Given the description of an element on the screen output the (x, y) to click on. 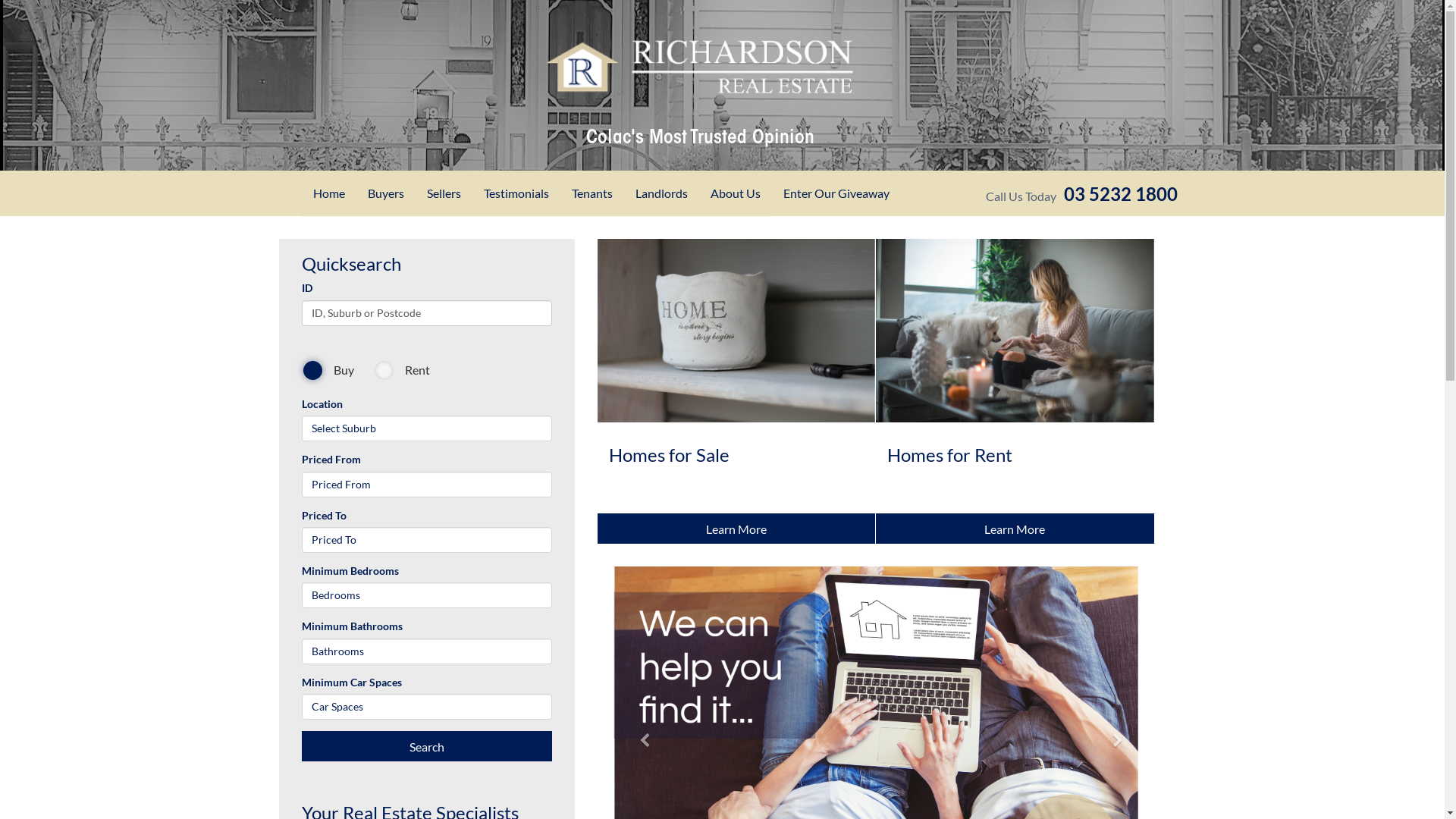
Landlords Element type: text (660, 193)
Search Element type: text (426, 746)
Homes for Rent
Learn More Element type: text (1014, 390)
Previous Element type: text (638, 659)
Sellers Element type: text (443, 193)
03 5232 1800 Element type: text (1119, 193)
Learn More Element type: text (736, 528)
Next Element type: text (1112, 659)
Home Element type: text (328, 193)
Homes for Sale
Learn More Element type: text (736, 390)
Buyers Element type: text (385, 193)
About Us Element type: text (735, 193)
Testimonials Element type: text (515, 193)
Learn More Element type: text (1014, 528)
Enter Our Giveaway Element type: text (835, 193)
Tenants Element type: text (591, 193)
